Given the description of an element on the screen output the (x, y) to click on. 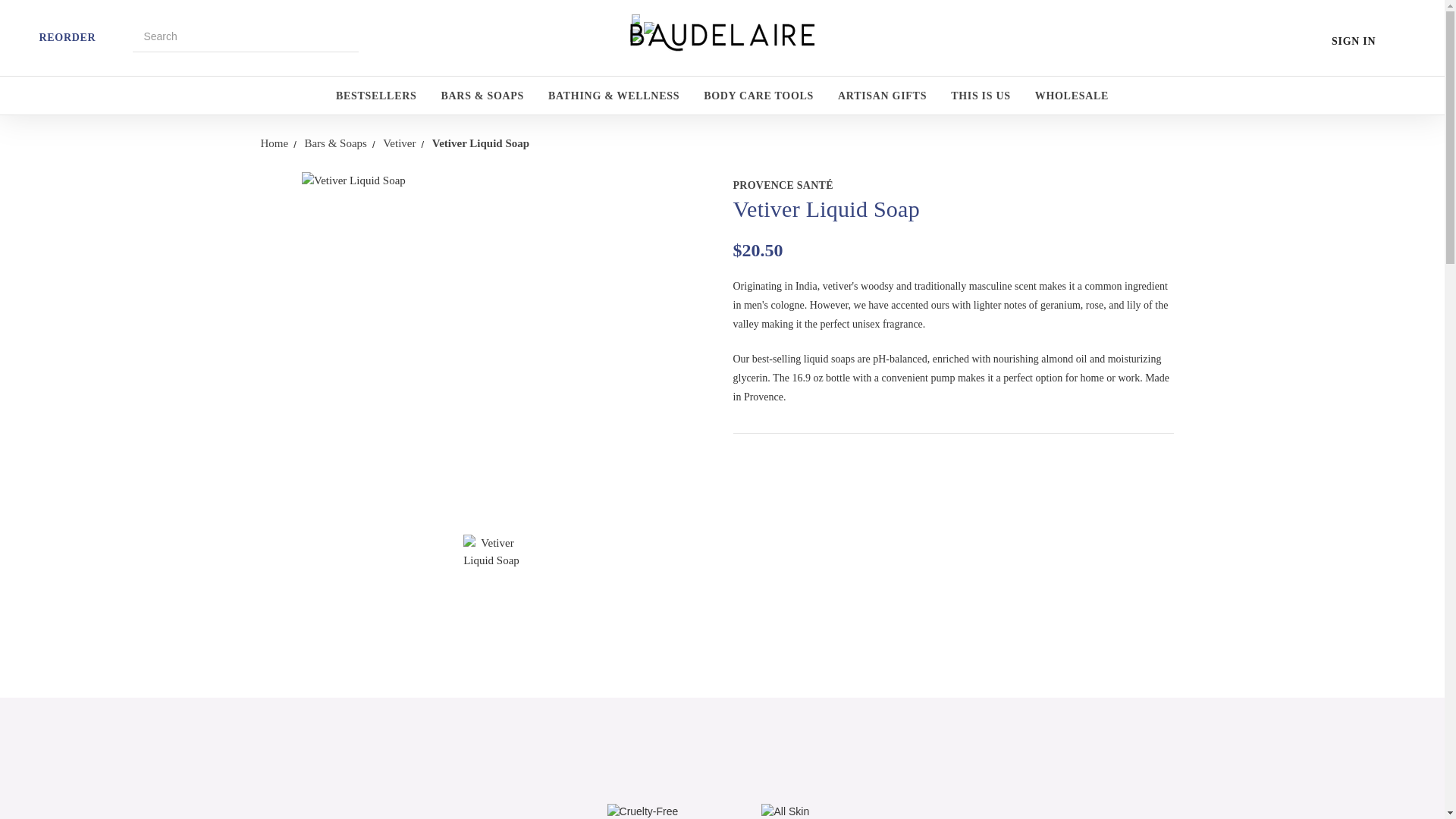
Baudelaire  (721, 38)
Vetiver Liquid Soap (491, 562)
Account Button (1321, 38)
Toggle Mobile Search (123, 33)
REORDER (66, 37)
SIGN IN (1353, 41)
Vetiver Liquid Soap (491, 342)
BESTSELLERS (376, 97)
Reorder Button (23, 35)
